Given the description of an element on the screen output the (x, y) to click on. 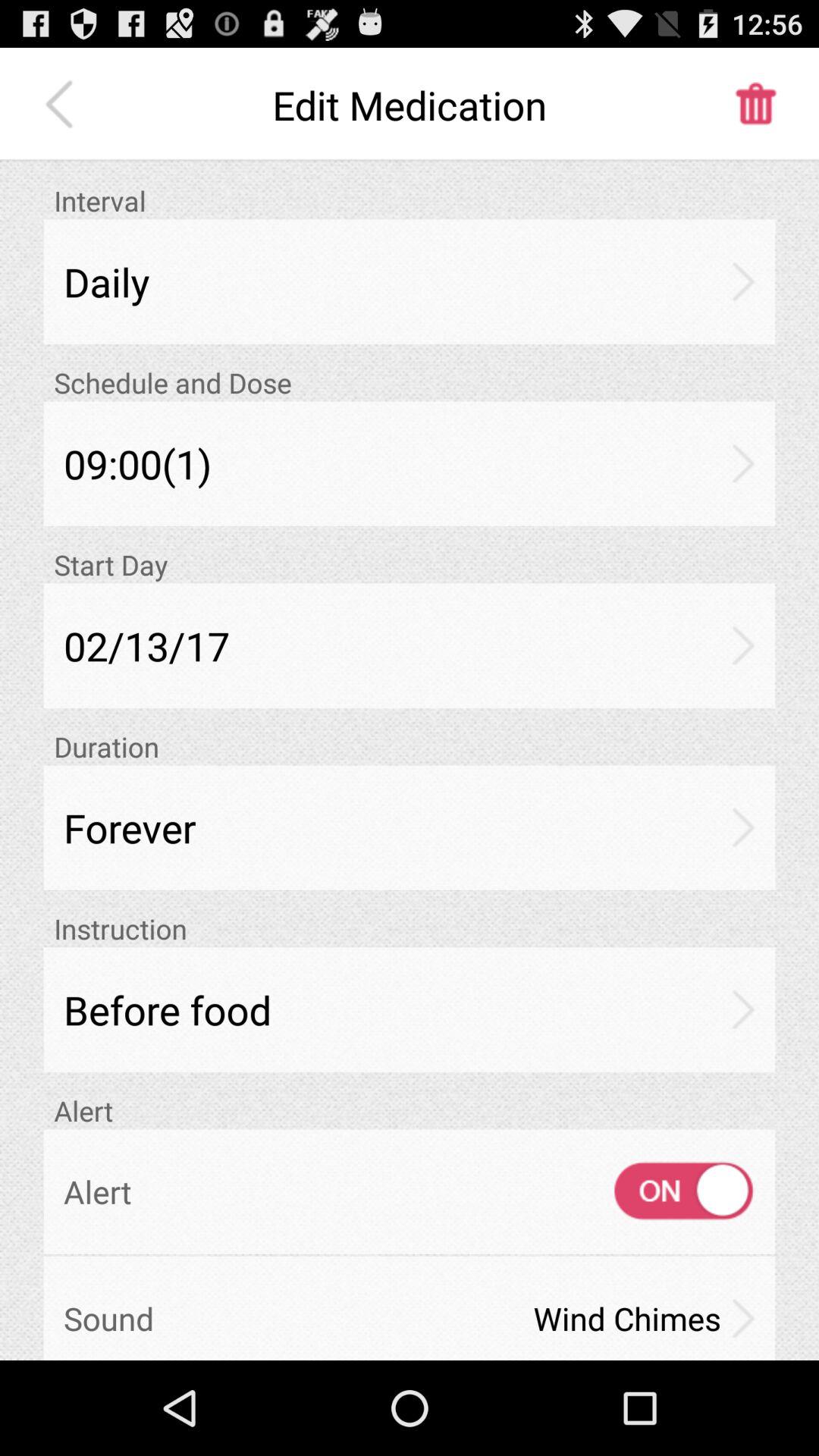
launch icon next to alert (670, 1191)
